Given the description of an element on the screen output the (x, y) to click on. 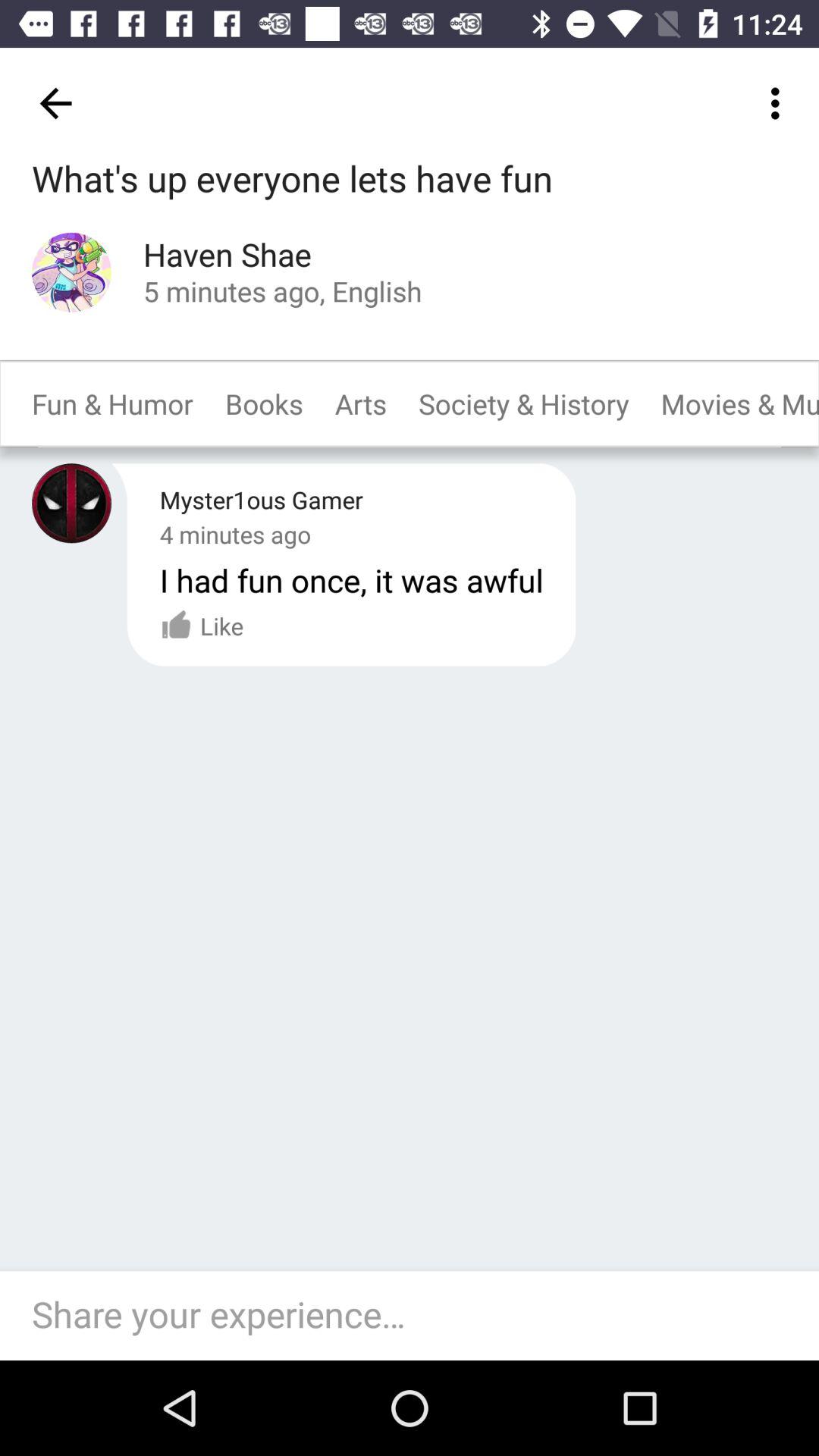
scroll to the like item (201, 626)
